Given the description of an element on the screen output the (x, y) to click on. 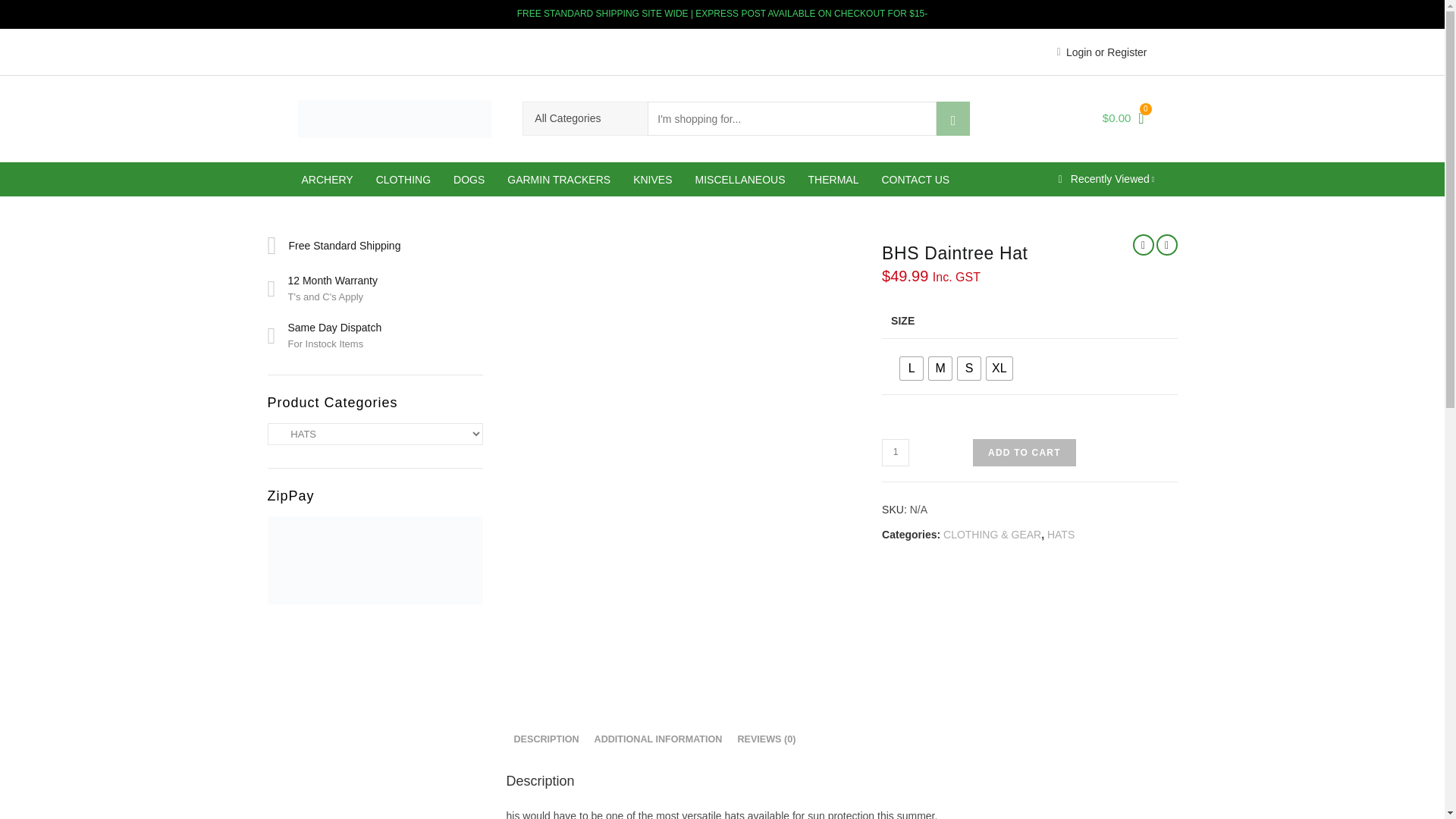
L (911, 368)
GARMIN TRACKERS (558, 179)
M (940, 368)
ARCHERY (326, 179)
S (968, 368)
Login or Register (1102, 52)
DOGS (469, 179)
CLOTHING (403, 179)
KNIVES (651, 179)
XL (999, 368)
